Given the description of an element on the screen output the (x, y) to click on. 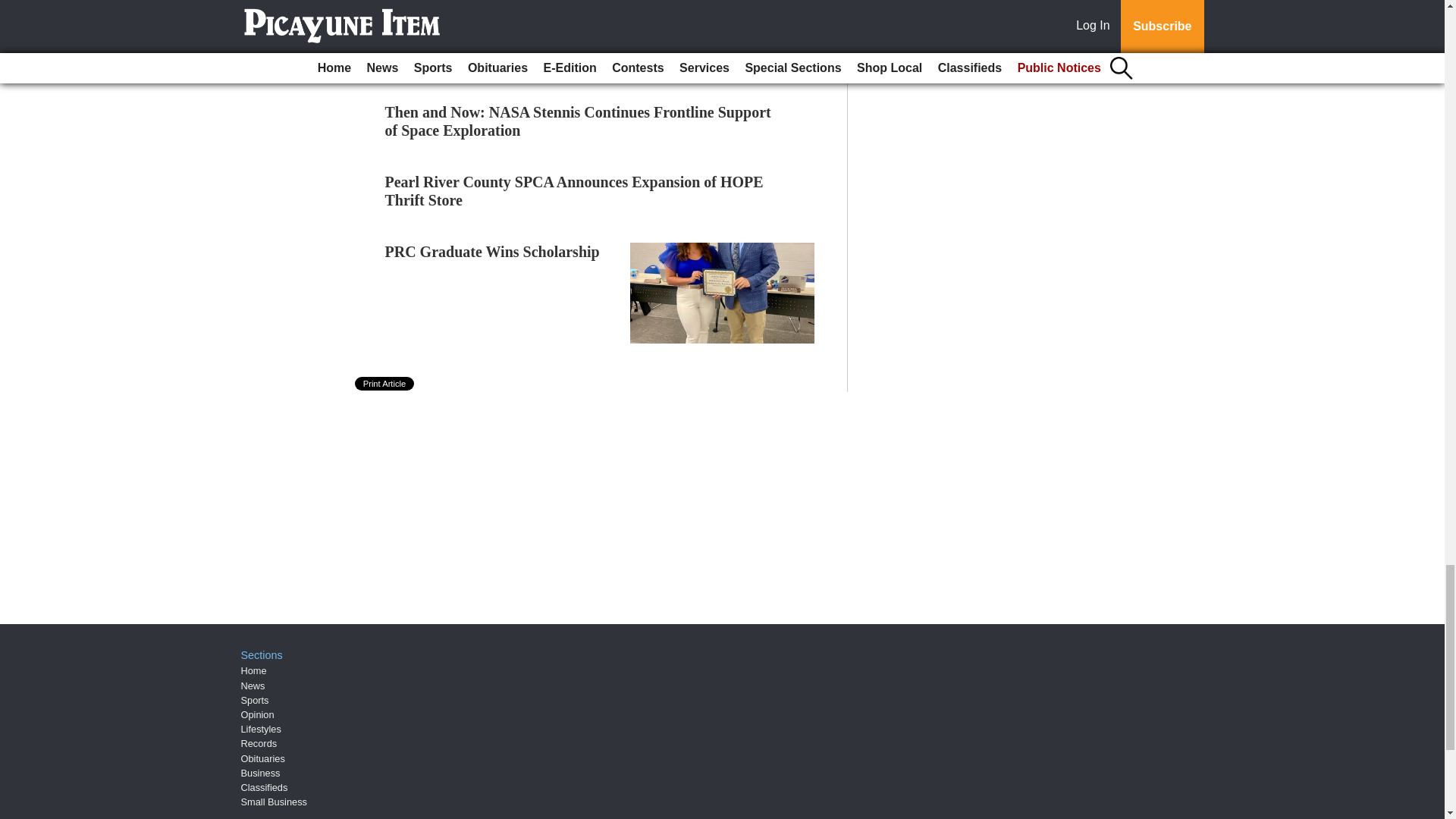
Print Article (384, 383)
PRC Graduate Wins Scholarship (492, 251)
PRC Graduate Wins Scholarship (492, 251)
